Given the description of an element on the screen output the (x, y) to click on. 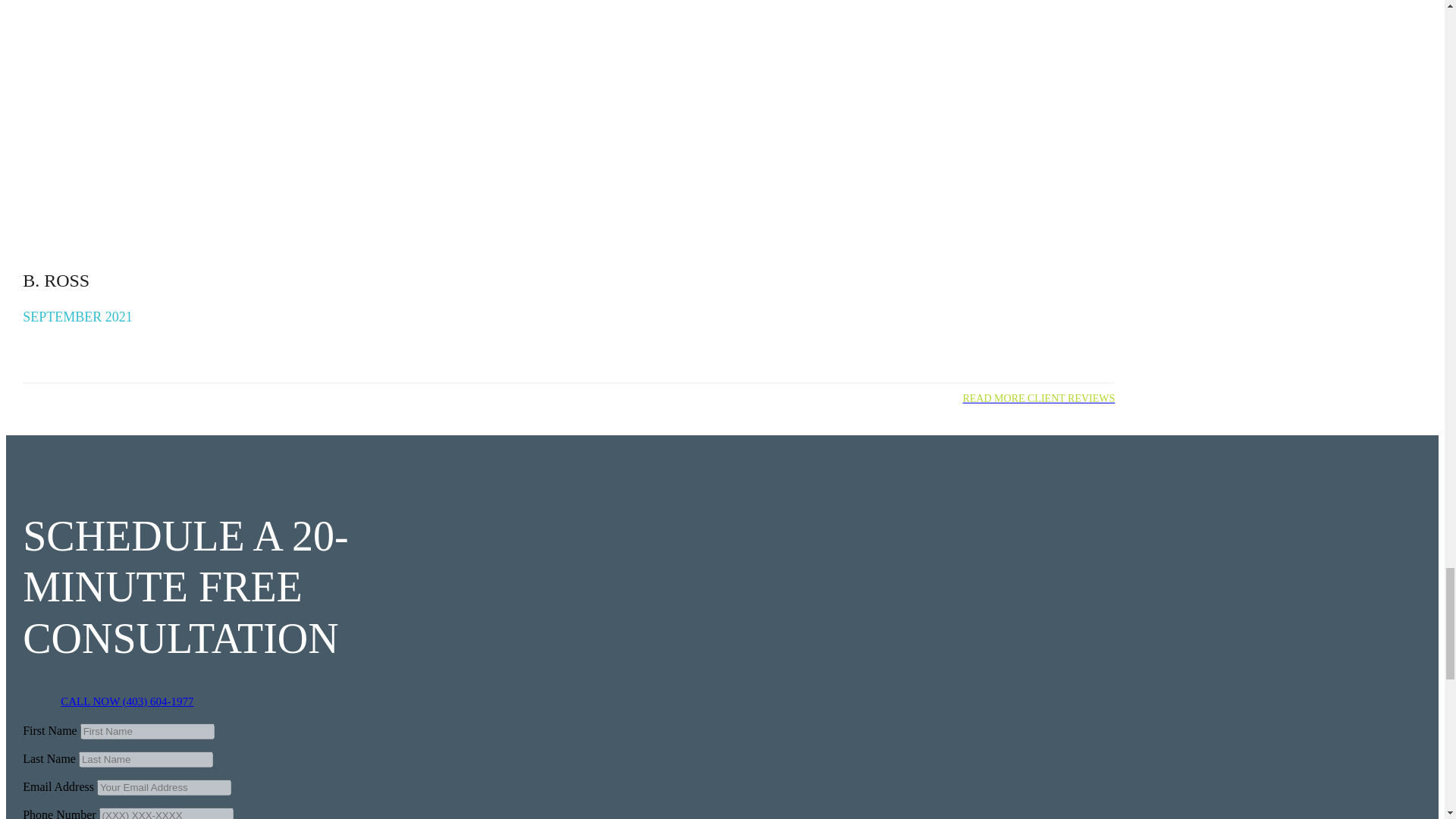
READ MORE CLIENT REVIEWS (1038, 398)
